Given the description of an element on the screen output the (x, y) to click on. 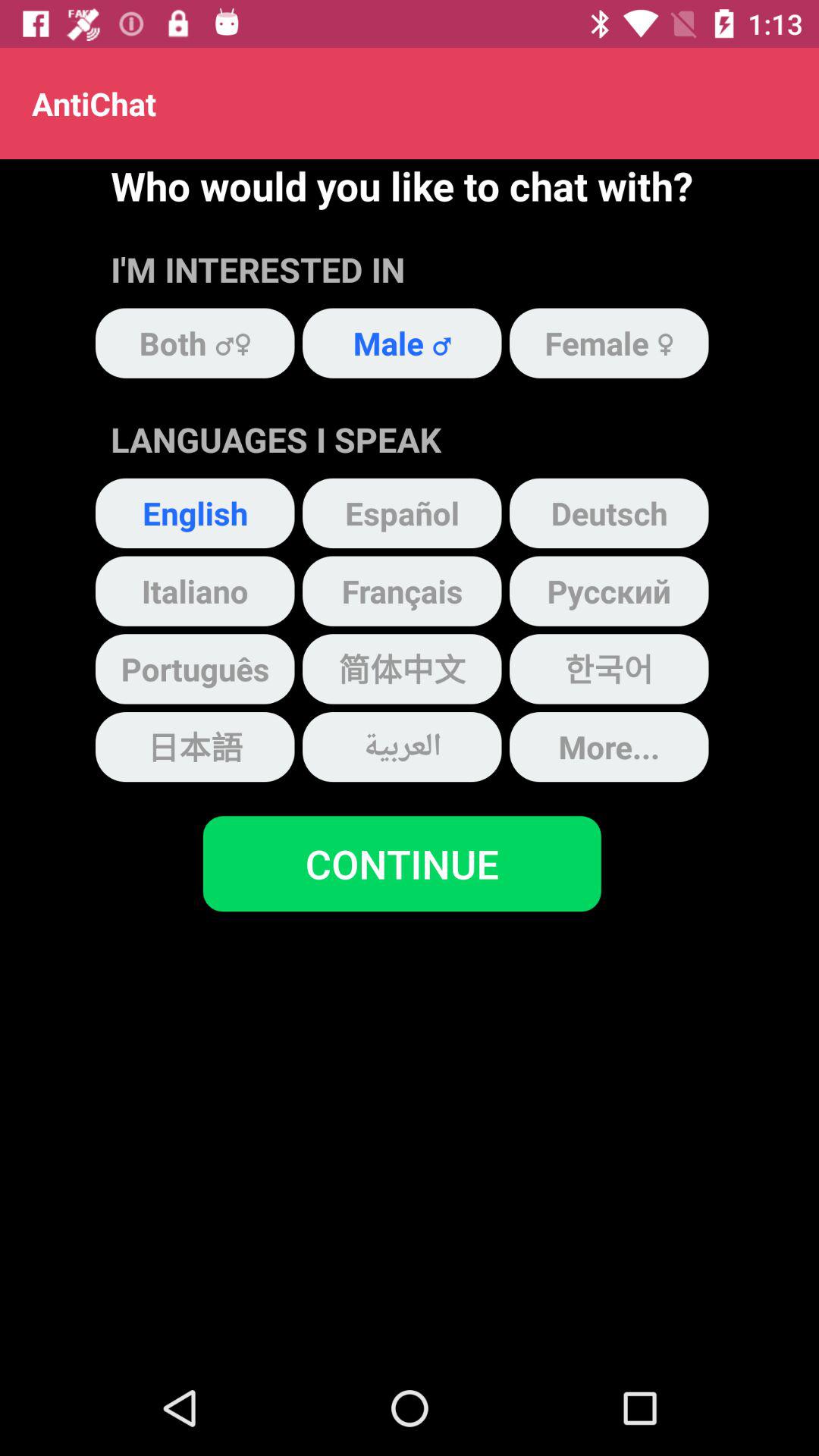
open the item below english (194, 591)
